Given the description of an element on the screen output the (x, y) to click on. 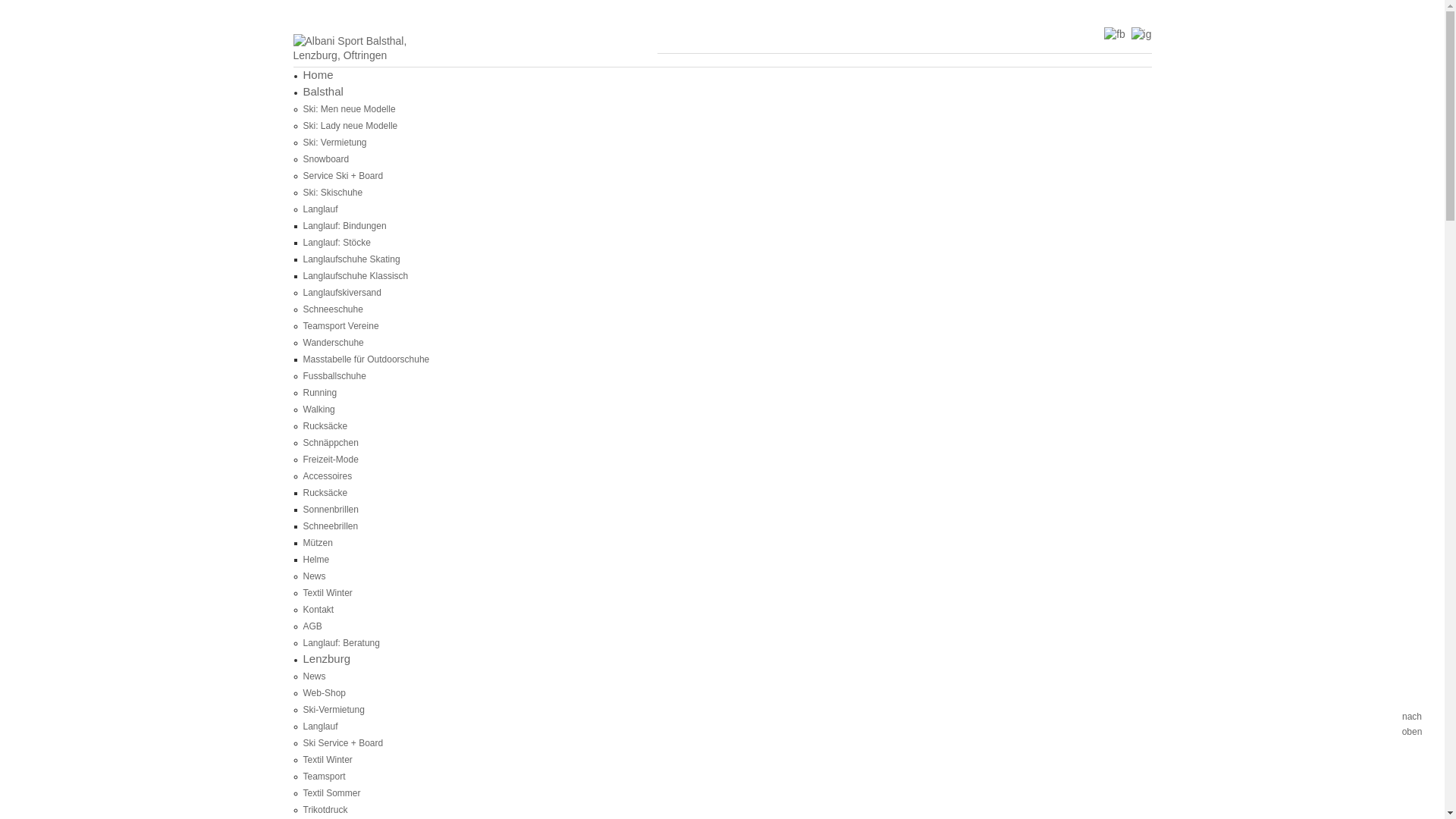
Service Ski + Board Element type: text (343, 175)
nach oben Element type: text (1411, 703)
Ski: Men neue Modelle Element type: text (349, 108)
Snowboard Element type: text (326, 158)
News Element type: text (314, 676)
Teamsport Element type: text (324, 776)
Helme Element type: text (316, 559)
Ski: Skischuhe Element type: text (333, 192)
https://www.instagram.com/p/BaJgssRgYxZ/ Element type: hover (1141, 33)
Fussballschuhe Element type: text (334, 375)
Sonnenbrillen Element type: text (330, 509)
Schneeschuhe Element type: text (333, 309)
Textil Sommer Element type: text (331, 792)
https://www.facebook.com/albanisport.ch/ Element type: hover (1114, 33)
Textil Winter Element type: text (327, 759)
Ski: Lady neue Modelle Element type: text (350, 125)
Accessoires Element type: text (327, 475)
Ski: Vermietung Element type: text (335, 142)
Wanderschuhe Element type: text (333, 342)
AGB Element type: text (312, 626)
Freizeit-Mode Element type: text (330, 459)
Ski-Vermietung Element type: text (333, 709)
Home Element type: text (318, 74)
Web-Shop Element type: text (324, 692)
Running Element type: text (320, 392)
Langlaufschuhe Klassisch Element type: text (355, 275)
Langlaufschuhe Skating Element type: text (351, 259)
Kontakt Element type: text (318, 609)
Textil Winter Element type: text (327, 592)
Langlauf: Bindungen Element type: text (344, 225)
Trikotdruck Element type: text (325, 809)
Schneebrillen Element type: text (330, 525)
Langlauf: Beratung Element type: text (341, 642)
Walking Element type: text (319, 409)
Teamsport Vereine Element type: text (341, 325)
Langlauf Element type: text (320, 726)
Lenzburg Element type: text (327, 658)
Balsthal Element type: text (323, 90)
Ski Service + Board Element type: text (343, 742)
Langlaufskiversand Element type: text (342, 292)
Langlauf Element type: text (320, 208)
News Element type: text (314, 576)
